Given the description of an element on the screen output the (x, y) to click on. 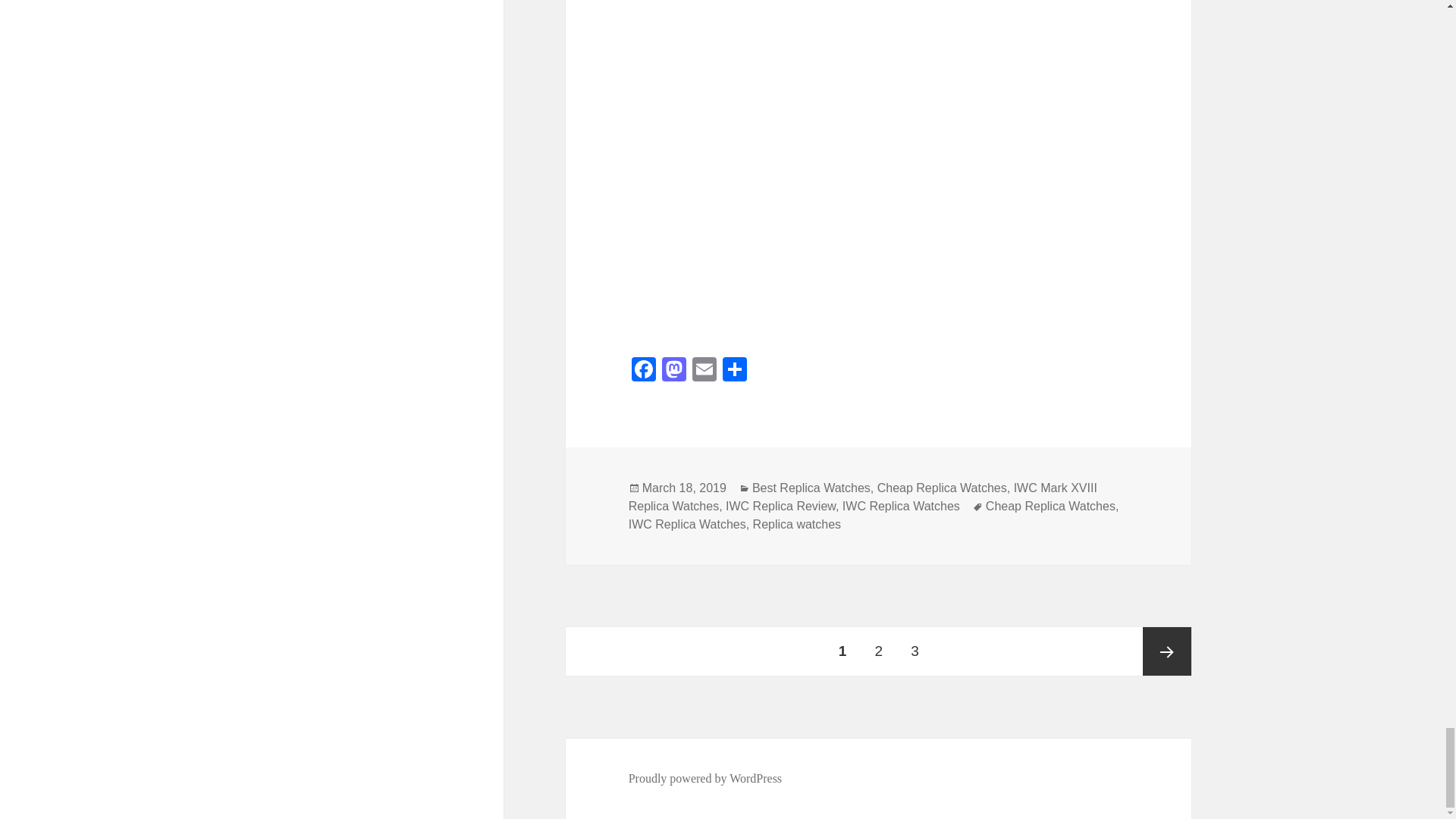
Mastodon (673, 370)
Email (703, 370)
Facebook (643, 370)
